Given the description of an element on the screen output the (x, y) to click on. 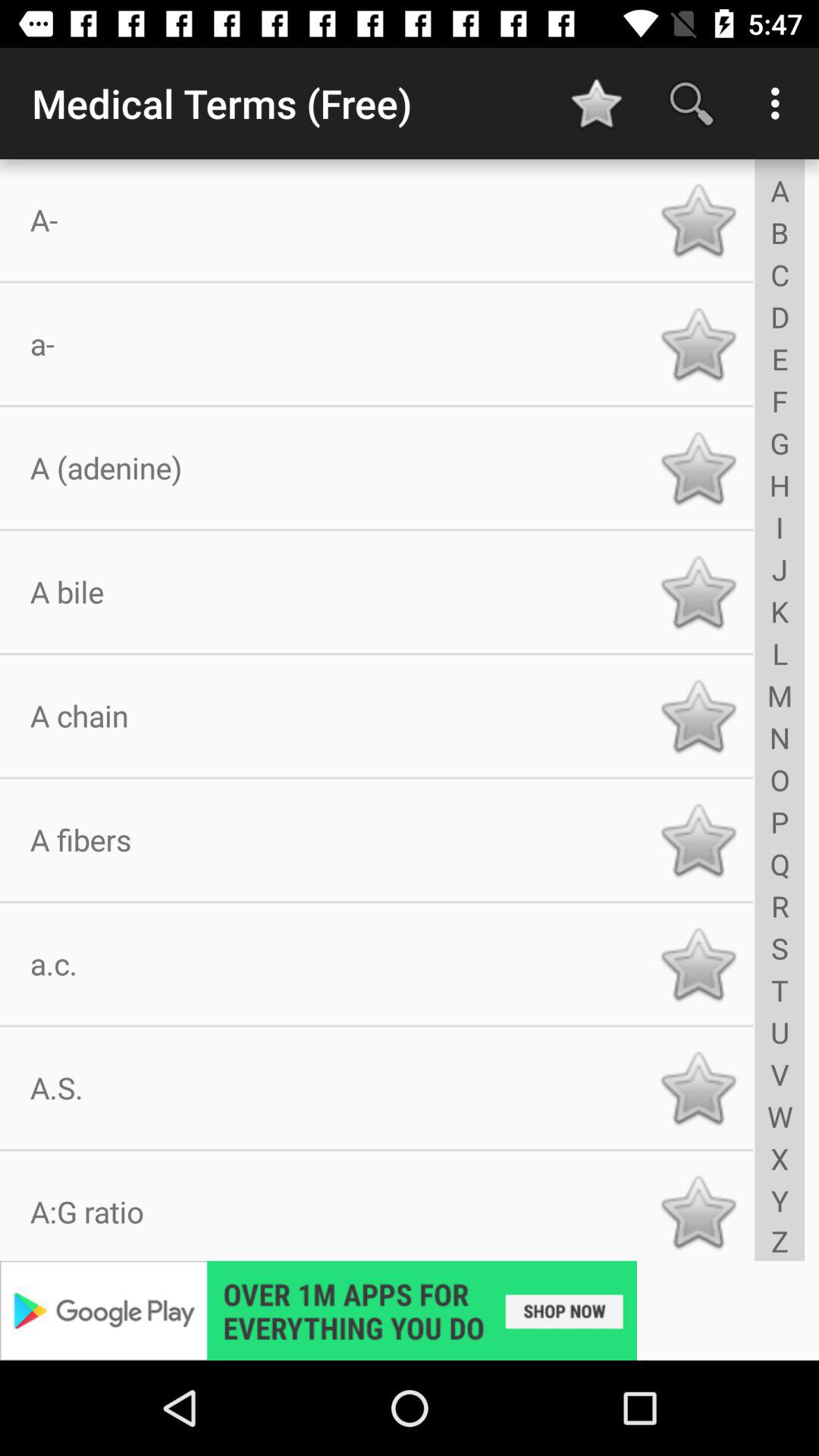
favorite a chain (697, 715)
